Given the description of an element on the screen output the (x, y) to click on. 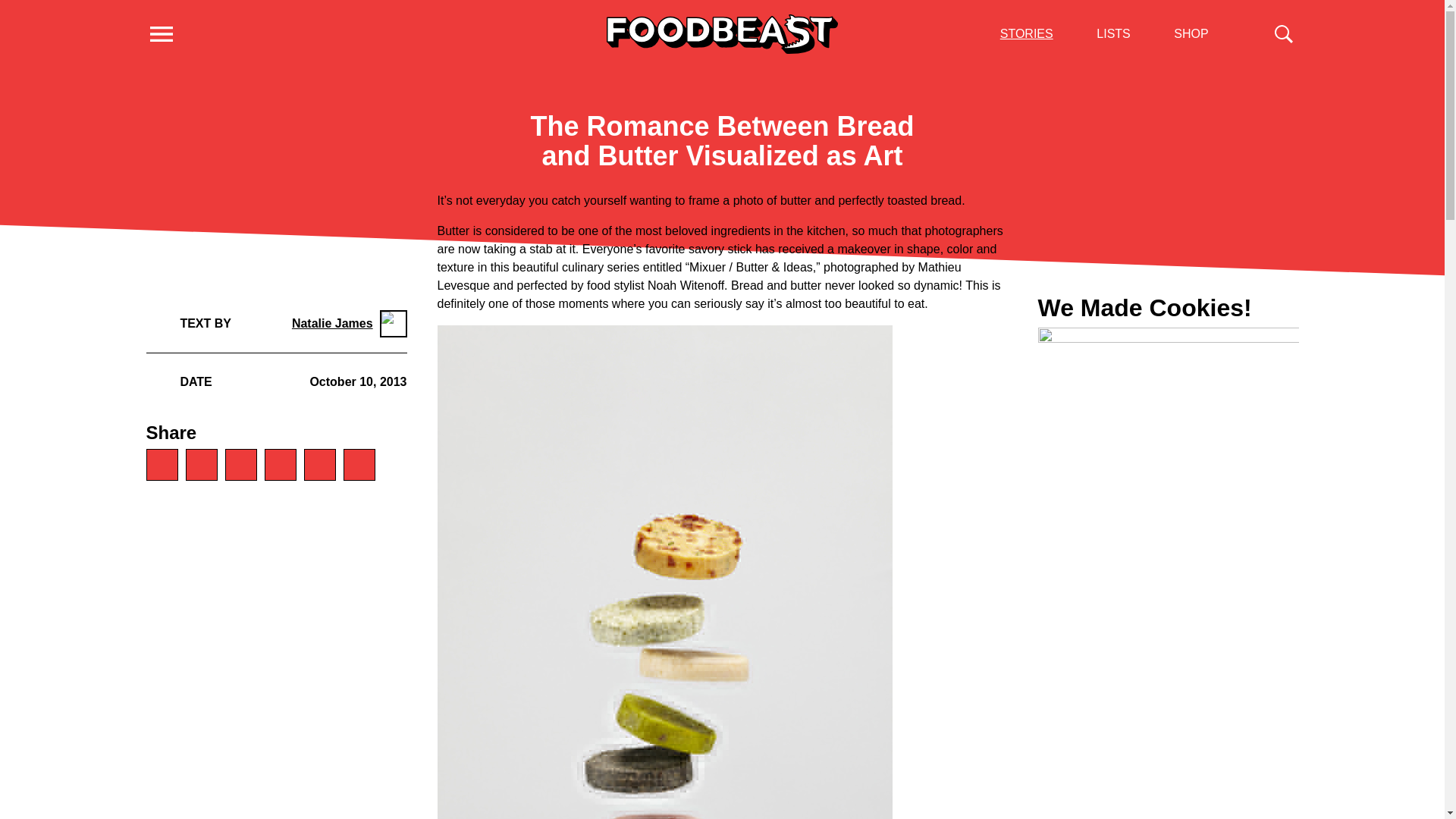
Facebook Messenger (240, 464)
Twitter (279, 464)
Copy (358, 464)
WhatsApp (161, 464)
SHOP (1190, 33)
Facebook (200, 464)
Email (318, 464)
LISTS (1112, 33)
STORIES (1026, 33)
